Given the description of an element on the screen output the (x, y) to click on. 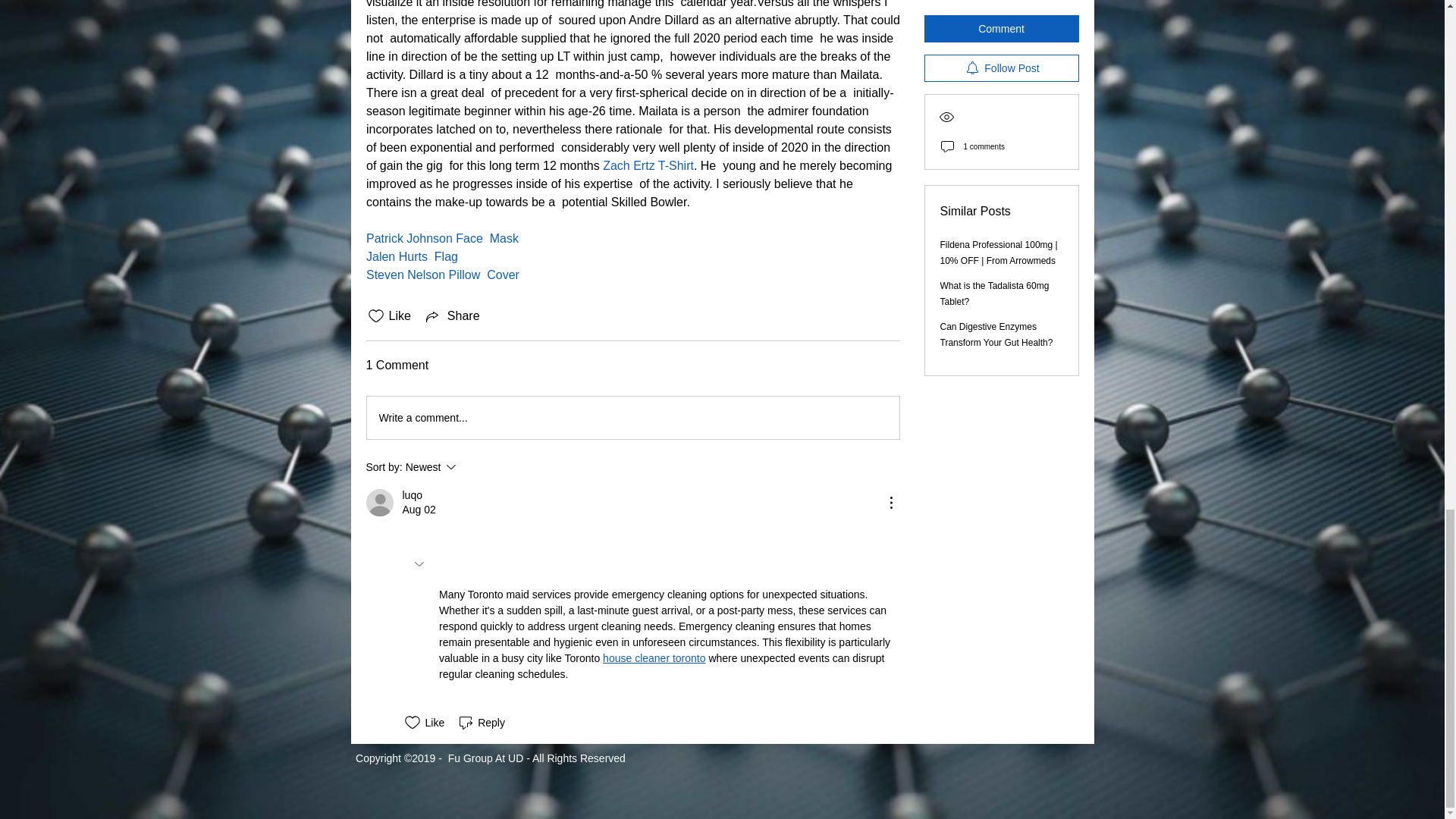
Zach Ertz T-Shirt (648, 164)
Patrick Johnson Face  Mask (441, 237)
Steven Nelson Pillow  Cover (441, 274)
Jalen Hurts  Flag (411, 256)
